Given the description of an element on the screen output the (x, y) to click on. 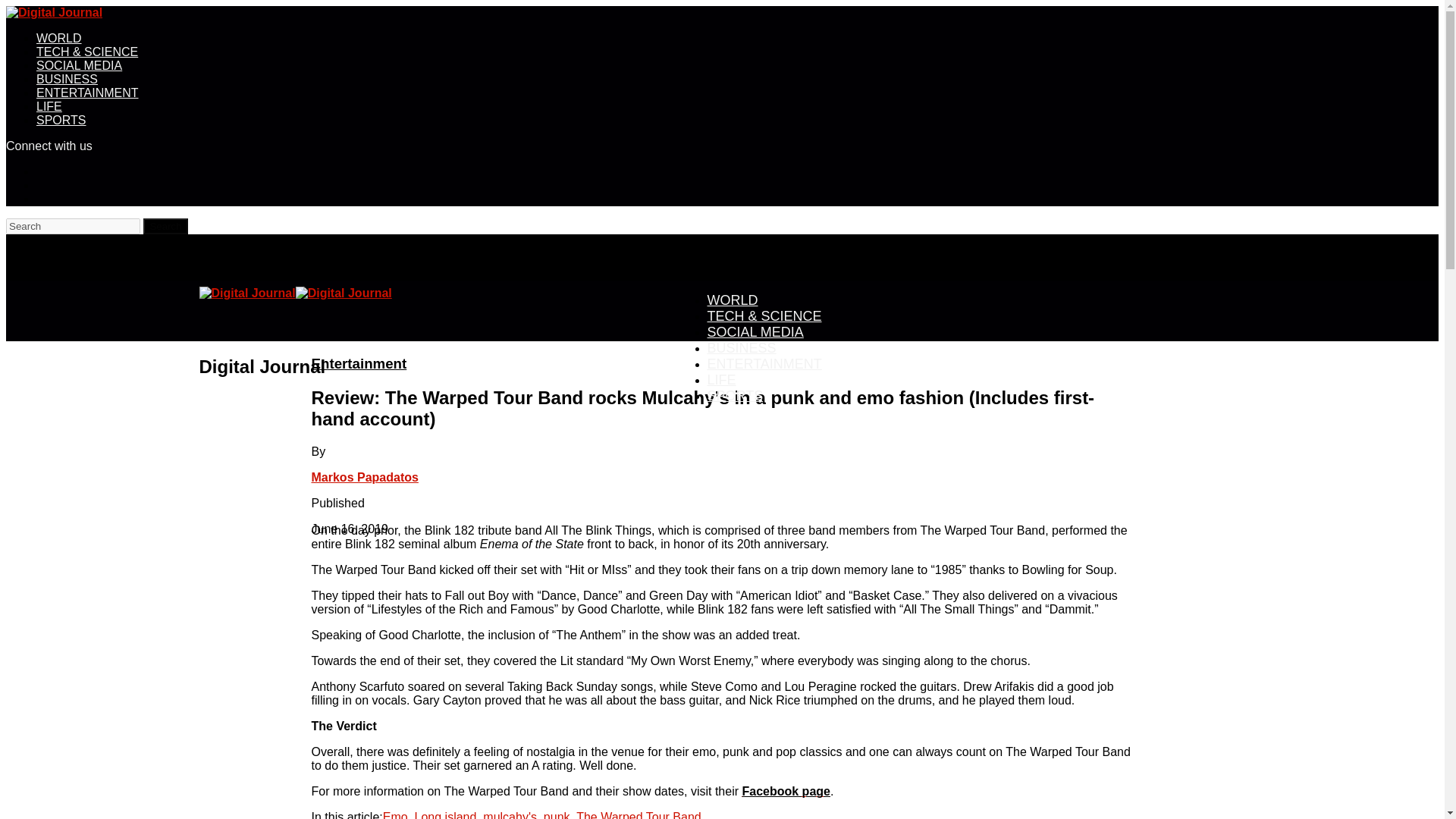
WORLD (58, 38)
Search (72, 226)
ENTERTAINMENT (763, 363)
LIFE (49, 106)
BUSINESS (741, 347)
Emo (394, 814)
punk (556, 814)
SOCIAL MEDIA (754, 332)
Search (164, 226)
Search (164, 226)
Posts by Markos Papadatos (364, 477)
Entertainment (358, 363)
The Warped Tour Band (638, 814)
Facebook page (785, 790)
SPORTS (60, 119)
